Given the description of an element on the screen output the (x, y) to click on. 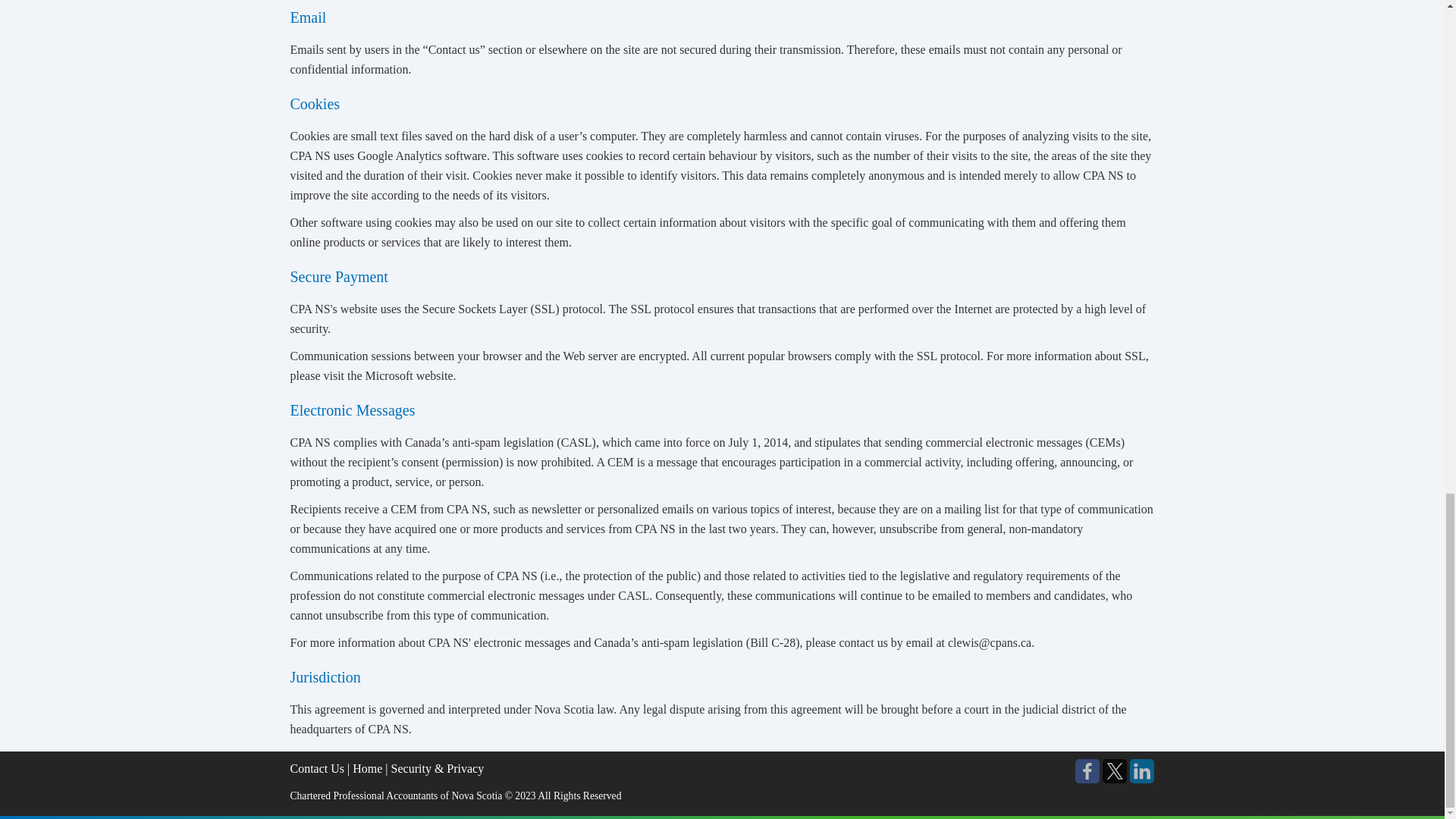
Visit our Facebook page (1087, 770)
LinkedIn (1141, 770)
Visit our Twitter page (1114, 770)
Visit our LinkedIn page (1141, 770)
Contact Us (316, 768)
Facebook (1087, 770)
Home (366, 768)
Twitter (1114, 770)
